Given the description of an element on the screen output the (x, y) to click on. 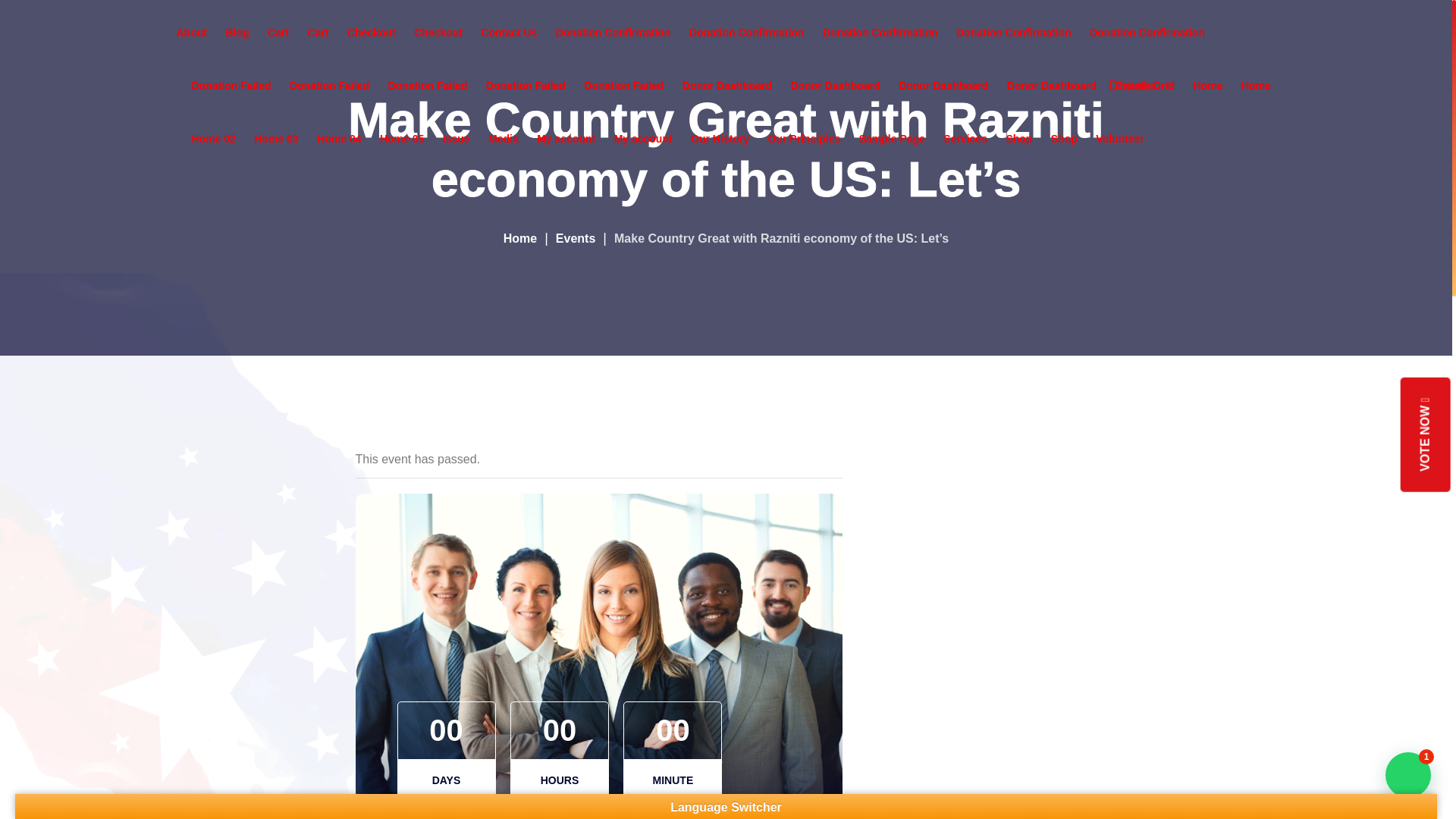
My account (643, 138)
Cart (277, 32)
Contact Us (508, 32)
Checkout (438, 32)
Donation Failed (427, 85)
Blog (236, 32)
Checkout (371, 32)
Donation Failed (329, 85)
Donation Failed (230, 85)
Sample Page (891, 138)
Media (502, 138)
Donor Dashboard (943, 85)
Home 04 (339, 138)
Donor Dashboard (726, 85)
Cart (318, 32)
